Given the description of an element on the screen output the (x, y) to click on. 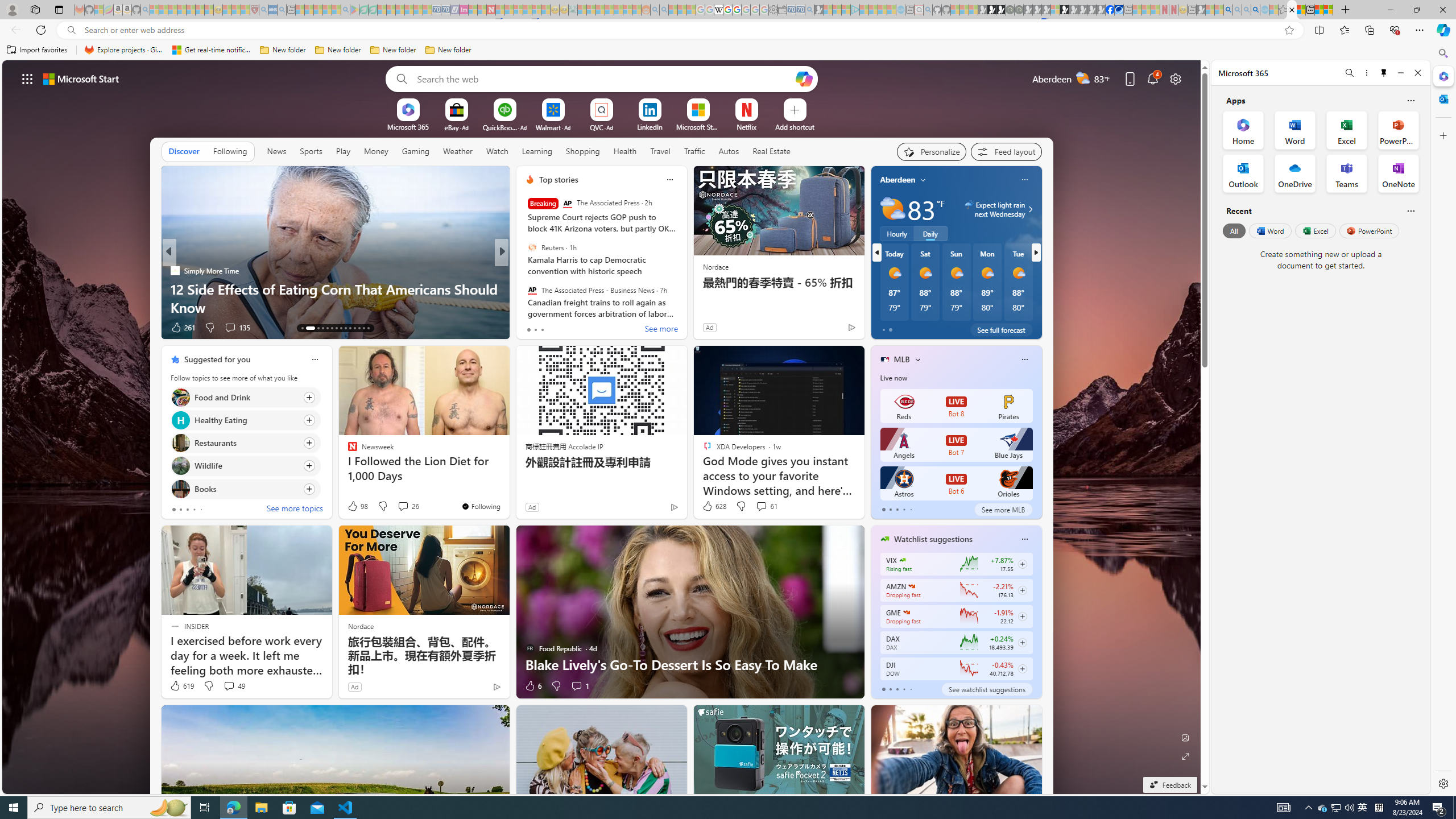
Why Some People Wait To Die Until They're Alone (335, 307)
45 Like (530, 327)
View comments 308 Comment (225, 327)
See more (661, 329)
Open Copilot (803, 78)
View comments 84 Comment (580, 327)
View comments 49 Comment (233, 685)
View comments 61 Comment (766, 505)
Add a site (793, 126)
Ad (354, 686)
